Given the description of an element on the screen output the (x, y) to click on. 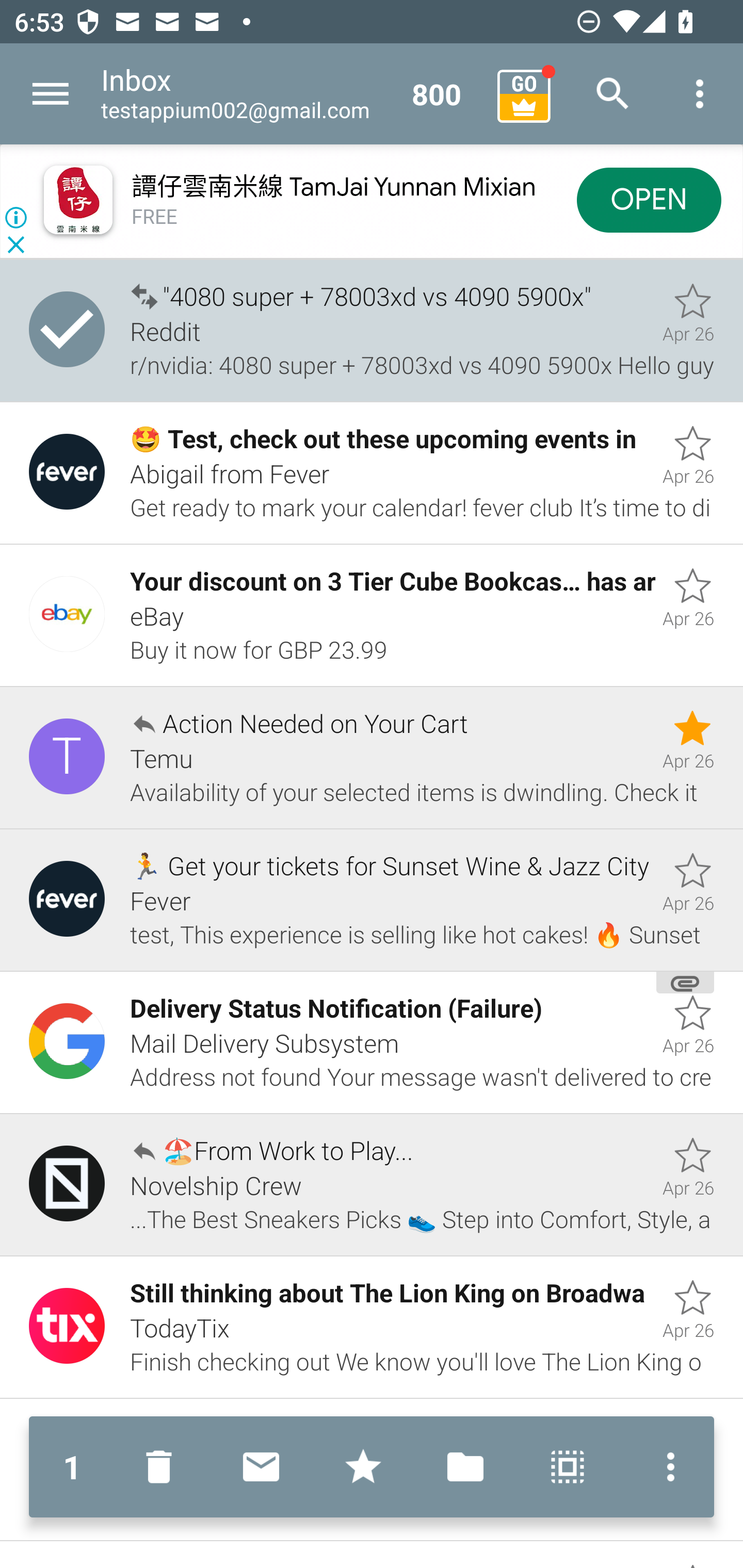
Navigate up (50, 93)
Inbox testappium002@gmail.com 800 (291, 93)
Search (612, 93)
More options (699, 93)
OPEN (648, 199)
譚仔雲南米線 TamJai Yunnan Mixian (333, 186)
FREE (154, 216)
1 1 message (71, 1466)
Move to Deleted (162, 1466)
Mark unread (261, 1466)
Mark with stars (363, 1466)
Move to folder… (465, 1466)
Select all (567, 1466)
More options (666, 1466)
